Given the description of an element on the screen output the (x, y) to click on. 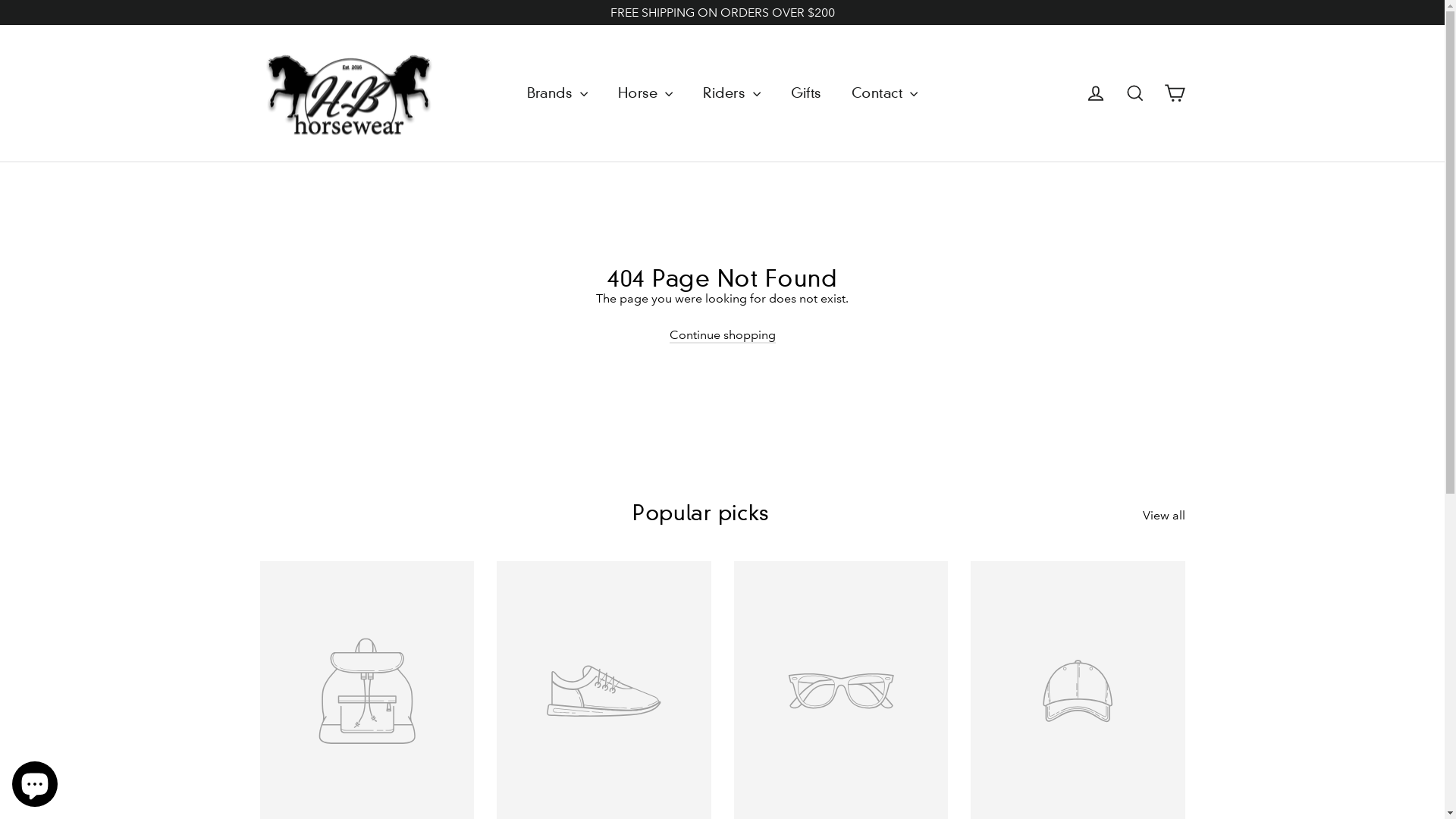
Gifts Element type: text (805, 92)
Continue shopping Element type: text (721, 335)
icon-search
Search Element type: text (1134, 93)
FREE SHIPPING ON ORDERS OVER $200 Element type: text (722, 12)
icon-cart
Cart Element type: text (1173, 93)
Shopify online store chat Element type: hover (34, 780)
View all Element type: text (1163, 513)
account
Log in Element type: text (1094, 93)
